Given the description of an element on the screen output the (x, y) to click on. 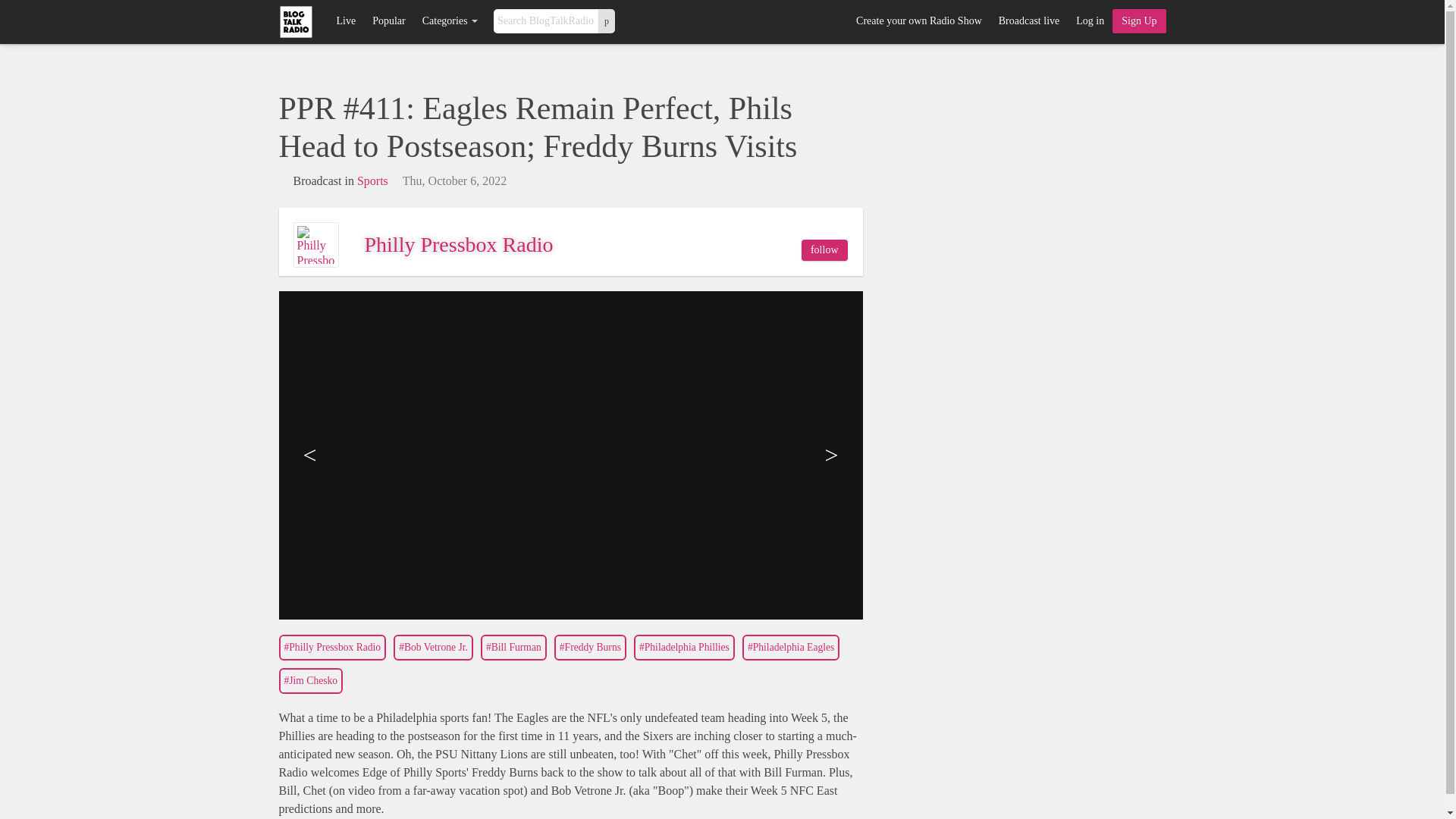
Follow Philly Pressbox Radio (824, 250)
Popular (388, 20)
Categories (449, 20)
Live (345, 20)
Broadcast live (1028, 20)
Create your own Radio Show (918, 20)
Sign Up (1139, 21)
Log in (1089, 20)
Create My Talk Show (1139, 21)
